Given the description of an element on the screen output the (x, y) to click on. 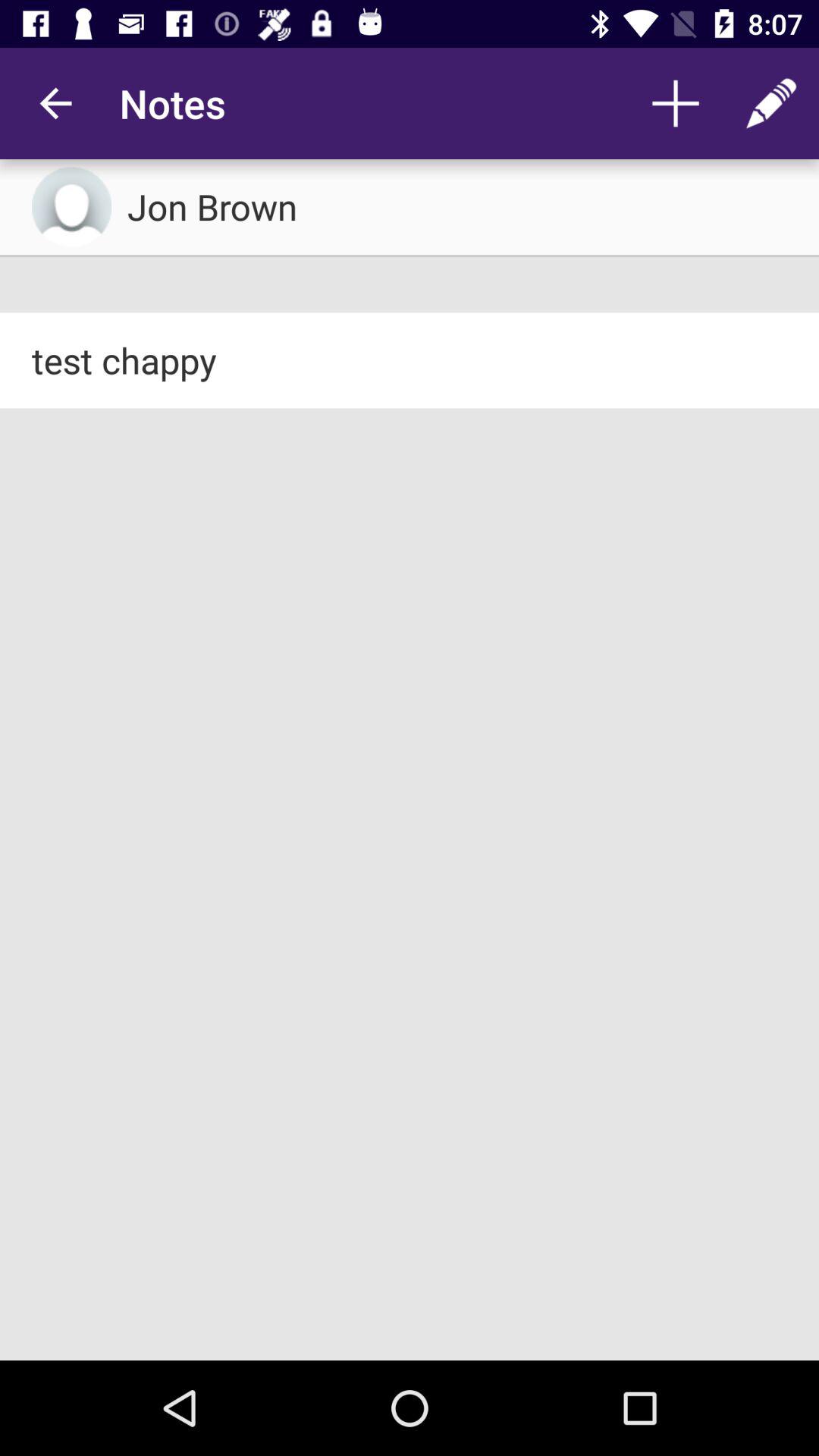
press app to the left of notes app (55, 103)
